Given the description of an element on the screen output the (x, y) to click on. 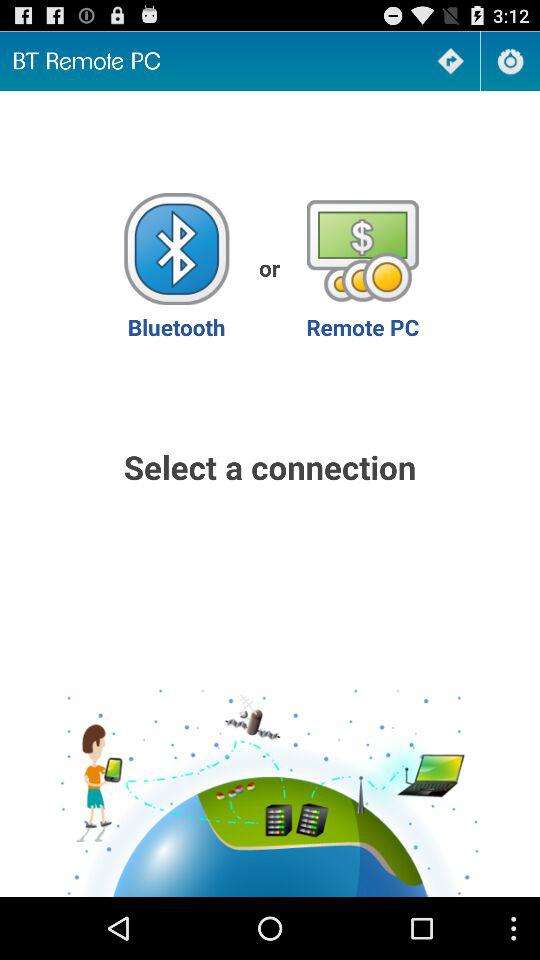
swipe to bluetooth (176, 267)
